Given the description of an element on the screen output the (x, y) to click on. 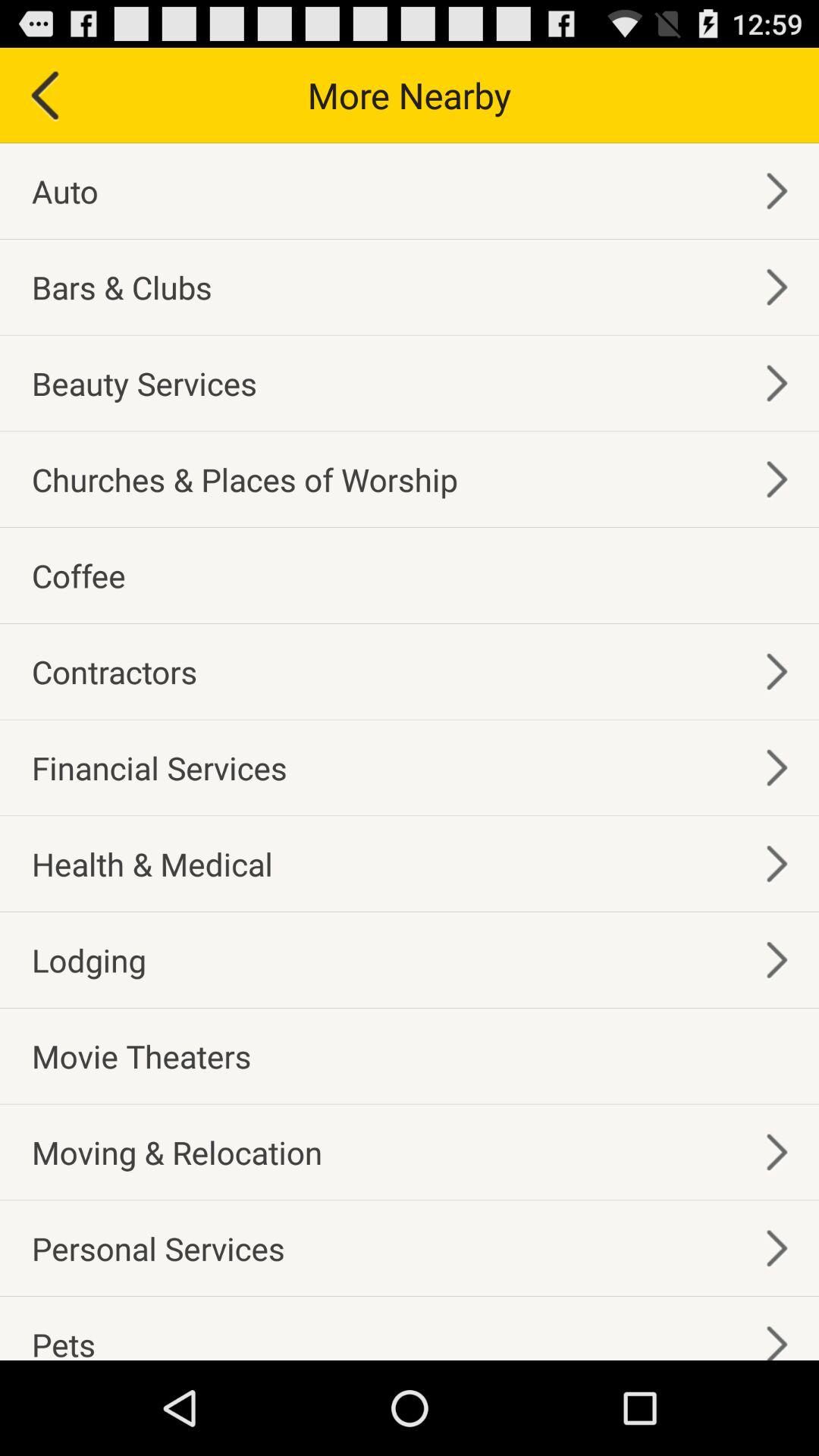
click the financial services item (159, 767)
